Given the description of an element on the screen output the (x, y) to click on. 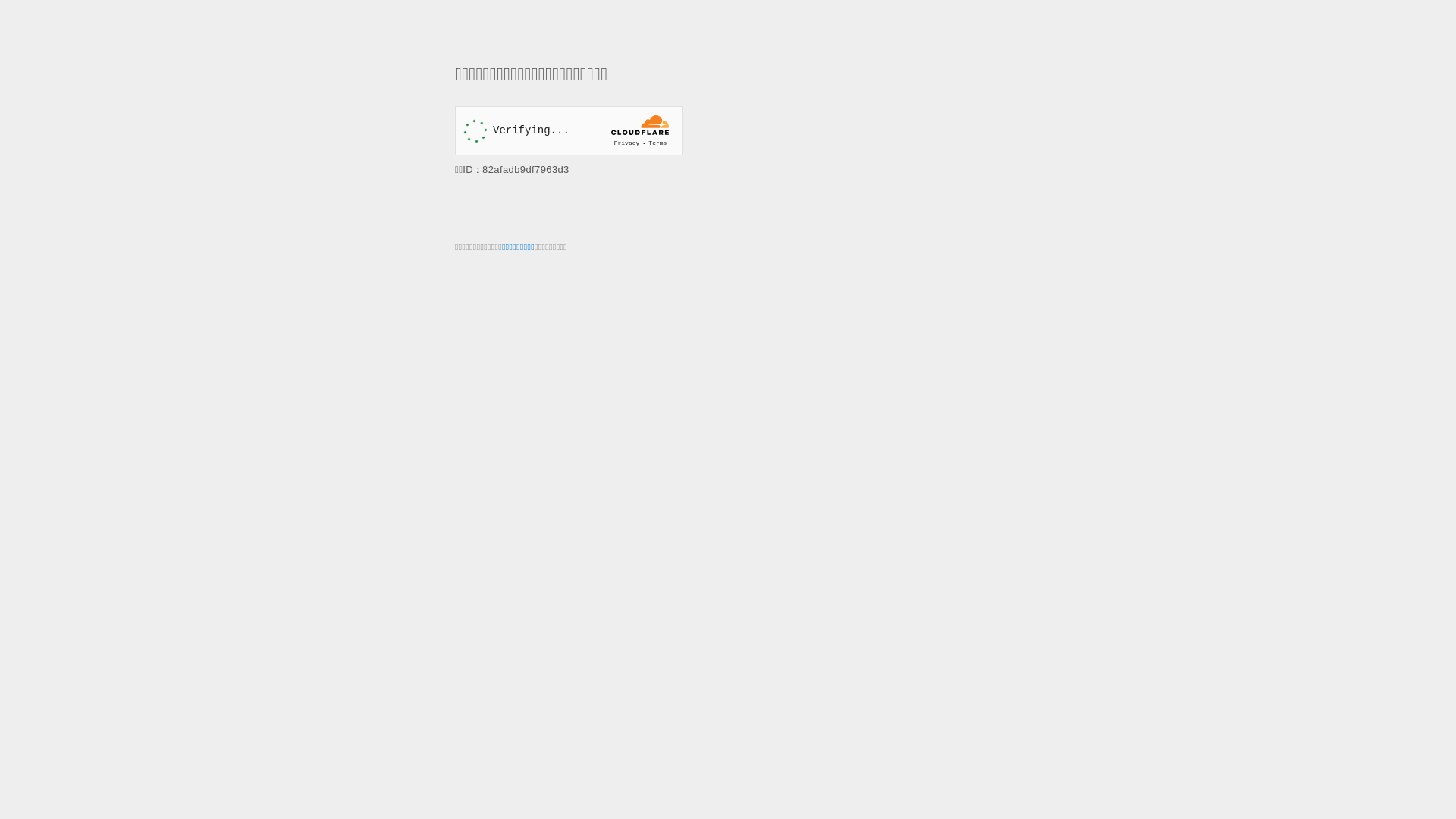
Widget containing a Cloudflare security challenge Element type: hover (568, 130)
